Given the description of an element on the screen output the (x, y) to click on. 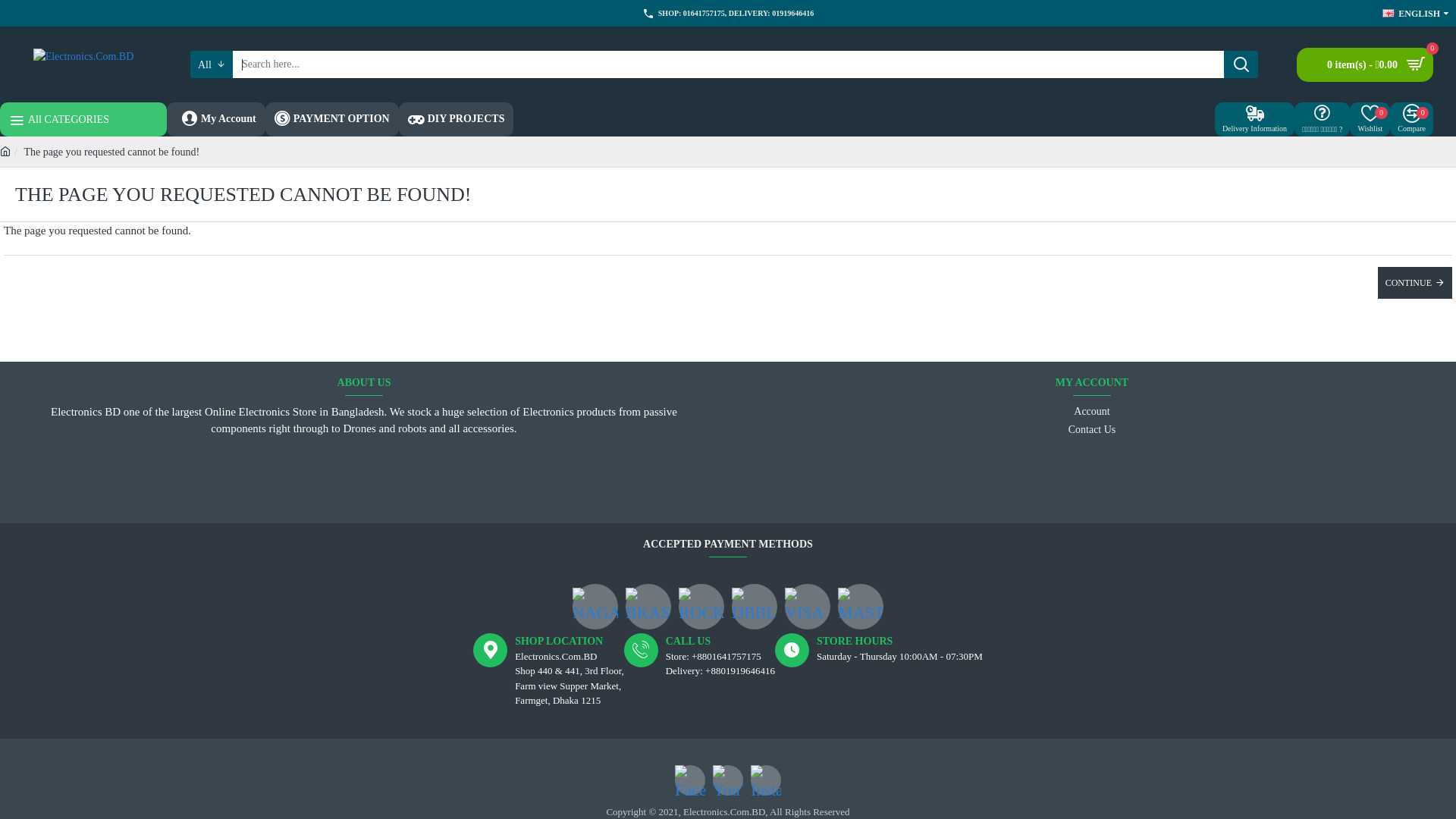
Electronics.Com.BD Element type: hover (83, 64)
Account Element type: text (1091, 412)
My Account Element type: text (215, 119)
SHOP: 01641757175, DELIVERY: 01919646416 Element type: text (727, 13)
Delivery Information Element type: text (1254, 119)
Compare
0 Element type: text (1411, 119)
PAYMENT OPTION Element type: text (331, 119)
CALL US
Store: +8801641757175
Delivery: +8801919646416 Element type: text (699, 669)
Facebook Element type: hover (689, 779)
DIY PROJECTS Element type: text (456, 119)
YouTube Element type: hover (727, 779)
Contact Us Element type: text (1092, 430)
All CATEGORIES Element type: text (83, 119)
ENGLISH Element type: text (1411, 12)
English Element type: hover (1388, 13)
The page you requested cannot be found! Element type: text (111, 152)
CONTINUE Element type: text (1414, 282)
Wishlist
0 Element type: text (1369, 119)
